Given the description of an element on the screen output the (x, y) to click on. 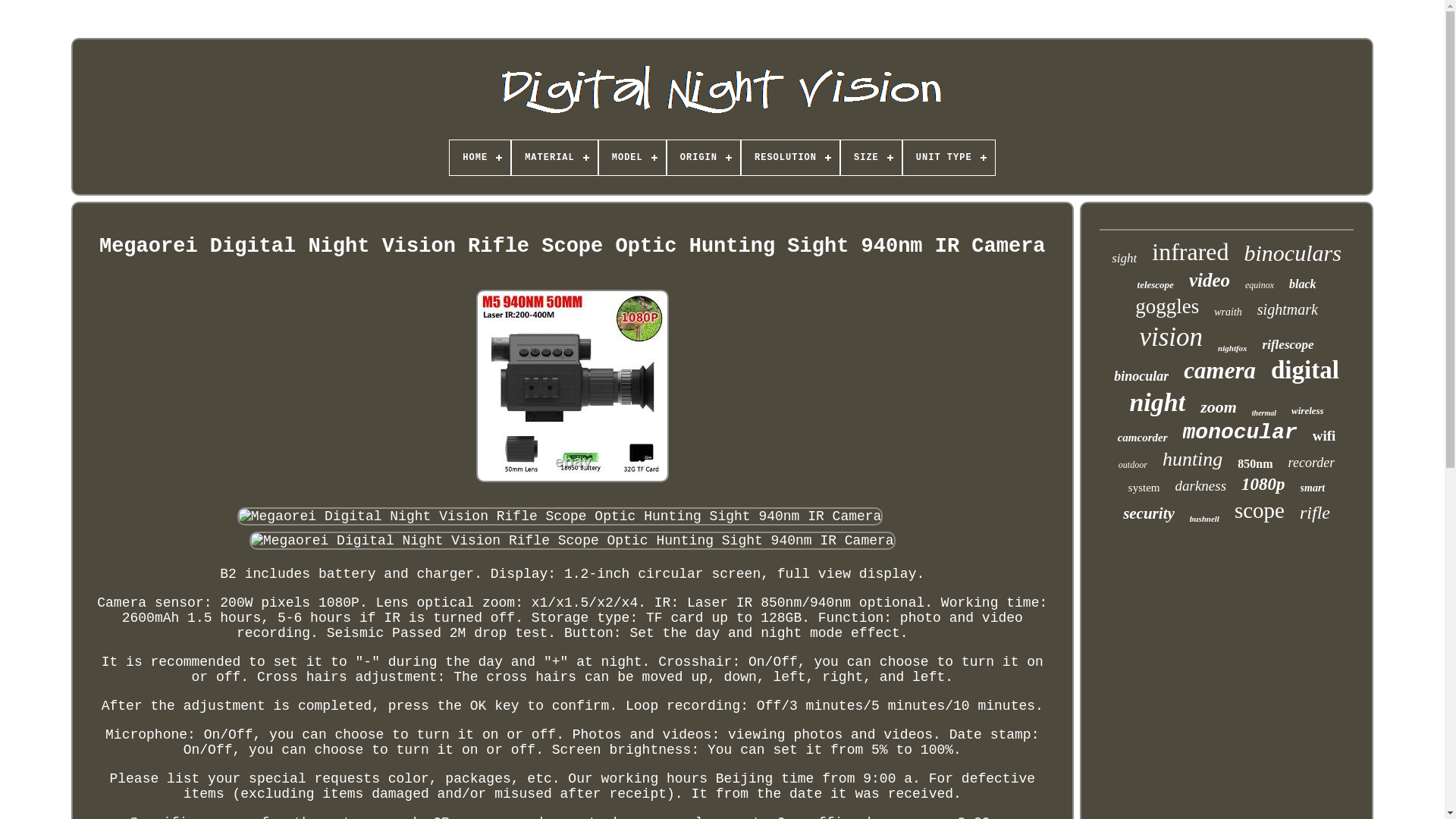
HOME (480, 157)
MATERIAL (554, 157)
MODEL (631, 157)
